Given the description of an element on the screen output the (x, y) to click on. 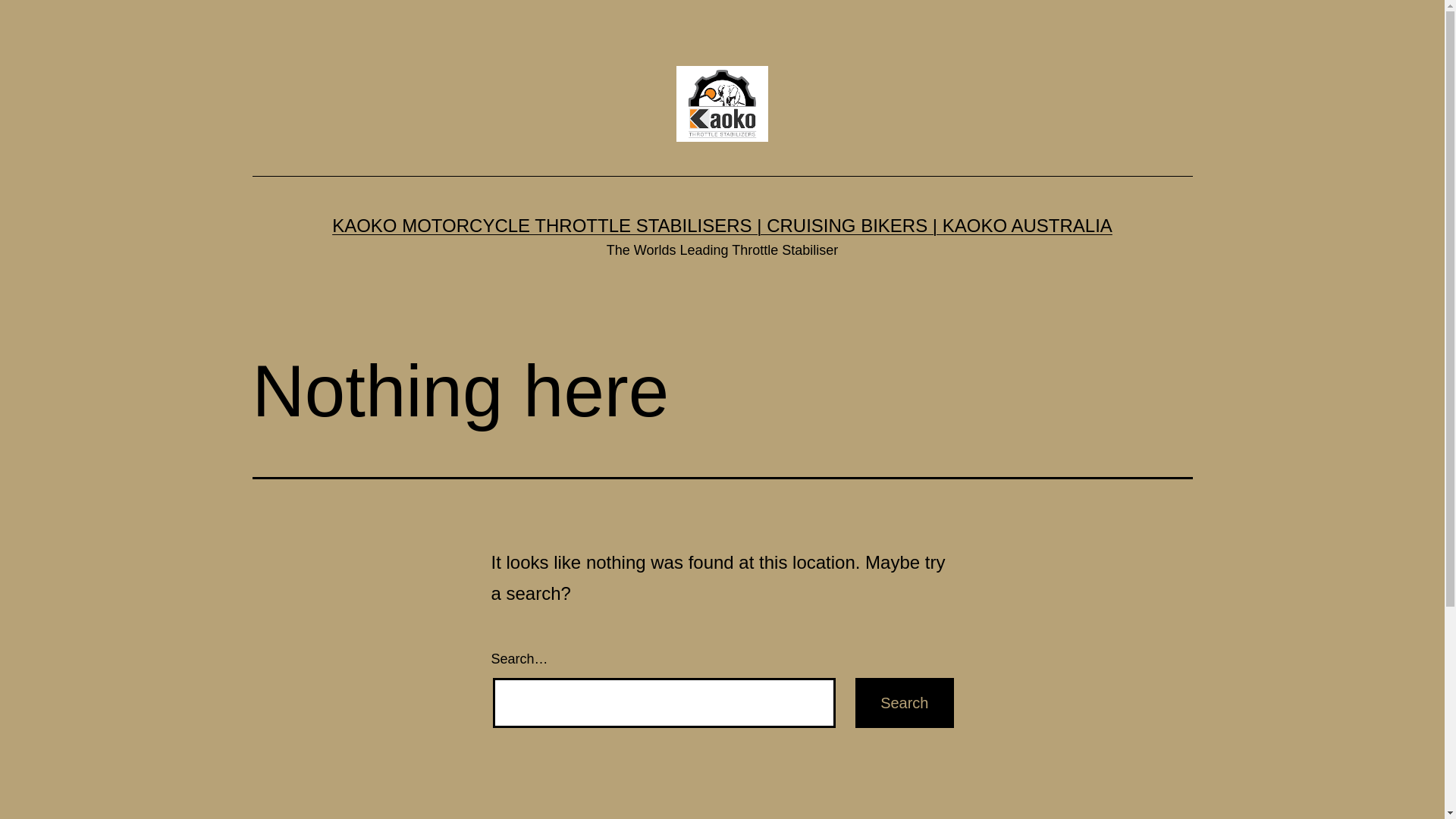
Search Element type: text (904, 702)
